Given the description of an element on the screen output the (x, y) to click on. 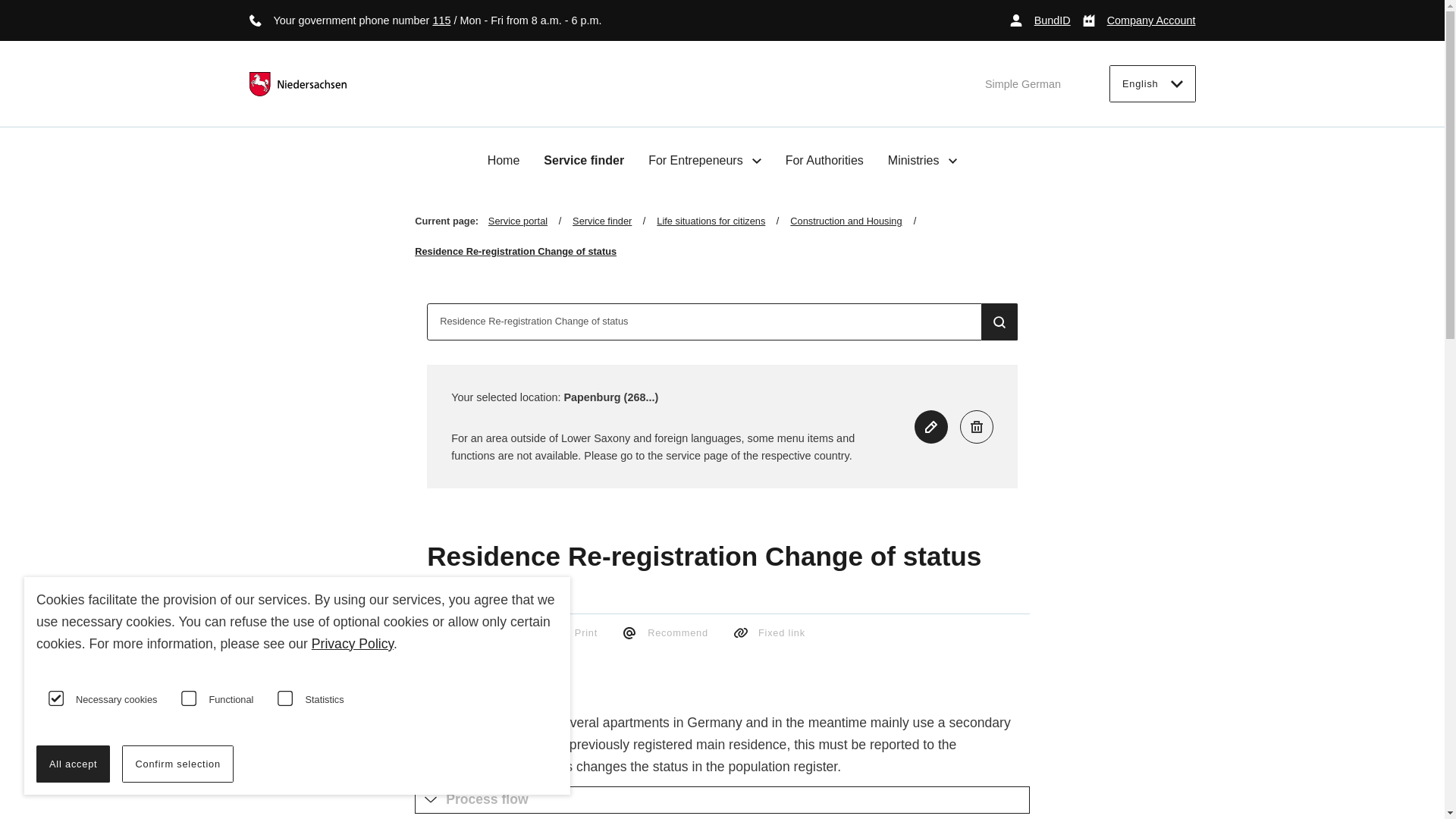
Service portal (529, 221)
Company Account (1139, 20)
Go to service portal home page (297, 84)
Service finder (614, 221)
Simple German (1023, 83)
115 (440, 20)
To listen to the text, please use ReadSpeaker (487, 661)
For Entrepeneurs (704, 160)
Residence Re-registration Change of status (703, 321)
BundID (1040, 20)
